Given the description of an element on the screen output the (x, y) to click on. 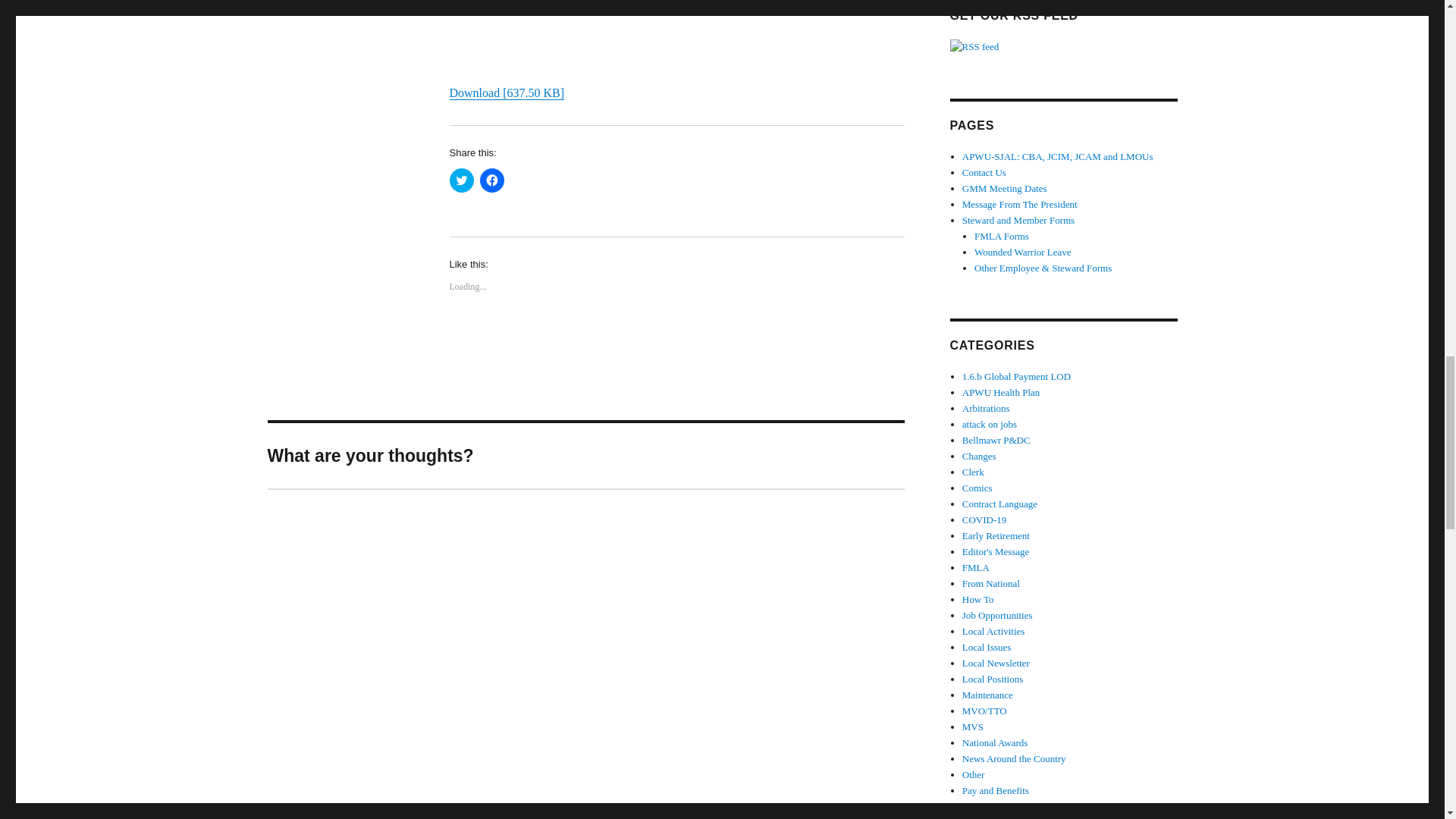
Click to share on Twitter (460, 180)
Subscribe to posts (973, 46)
Click to share on Facebook (491, 180)
Embedded Document (676, 41)
